Given the description of an element on the screen output the (x, y) to click on. 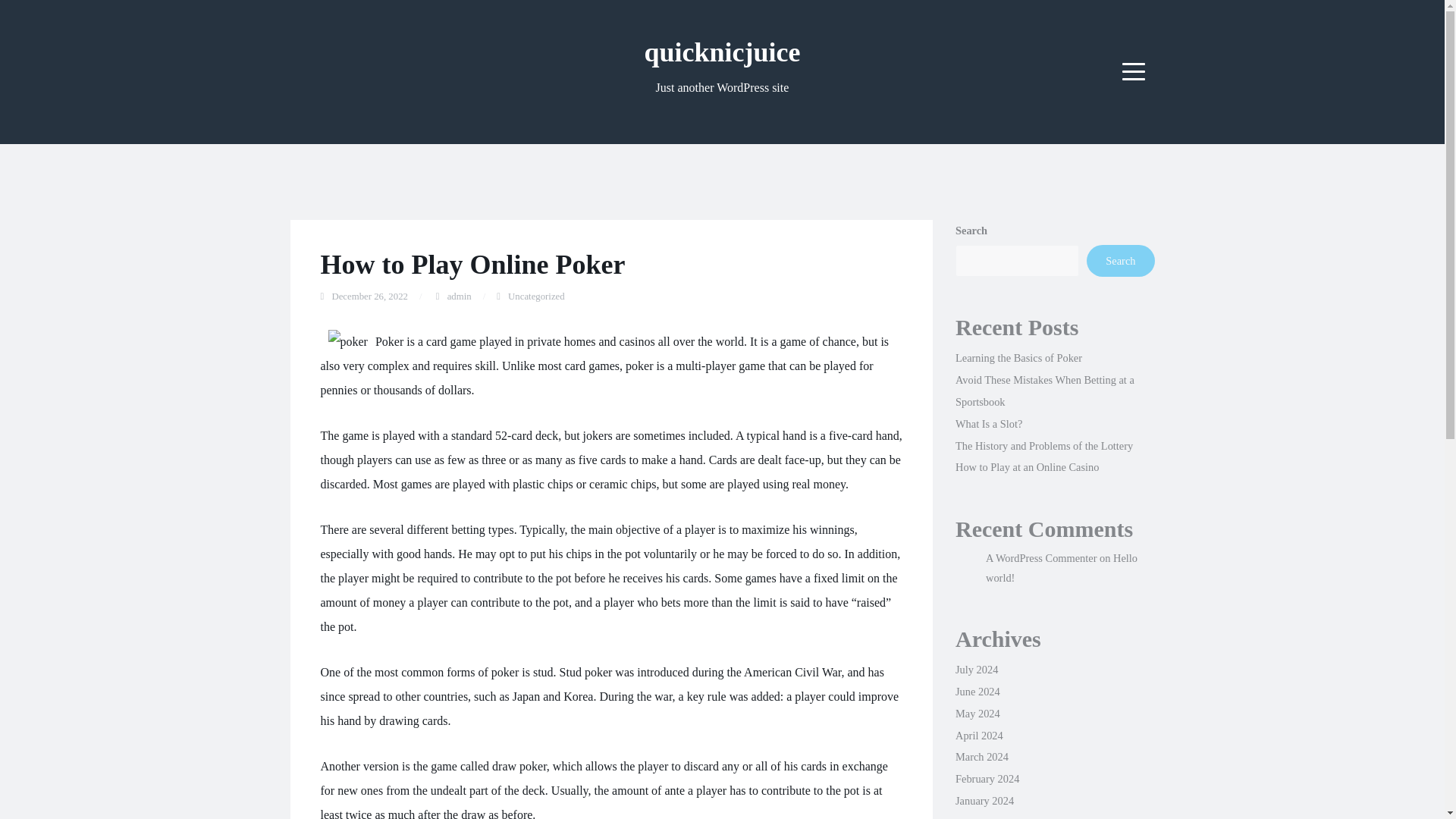
quicknicjuice (721, 51)
A WordPress Commenter (1040, 558)
February 2024 (987, 778)
June 2024 (977, 691)
Search (1120, 260)
Avoid These Mistakes When Betting at a Sportsbook (1044, 390)
What Is a Slot? (988, 423)
Uncategorized (536, 296)
April 2024 (979, 735)
March 2024 (982, 756)
December 26, 2022 (369, 296)
December 2023 (990, 817)
January 2024 (984, 800)
May 2024 (977, 713)
How to Play at an Online Casino (1027, 467)
